Given the description of an element on the screen output the (x, y) to click on. 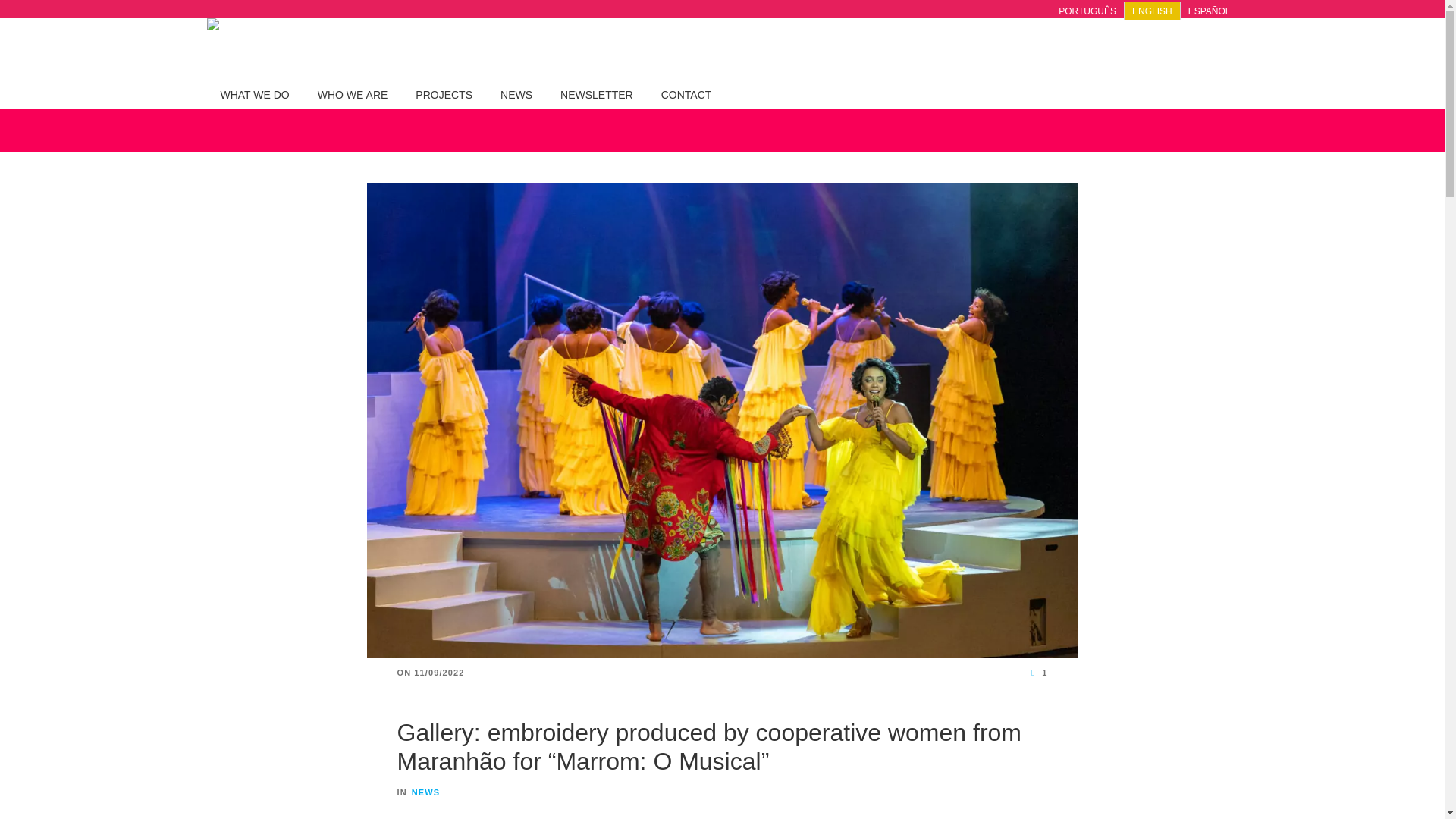
ENGLISH (1151, 11)
Twitter (1219, 48)
NEWS (516, 93)
NEWS (425, 791)
NEWSLETTER (596, 93)
Facebook (1101, 48)
WHO WE ARE (352, 93)
Instagram (1140, 48)
PROJECTS (443, 93)
WHAT WE DO (254, 93)
